Given the description of an element on the screen output the (x, y) to click on. 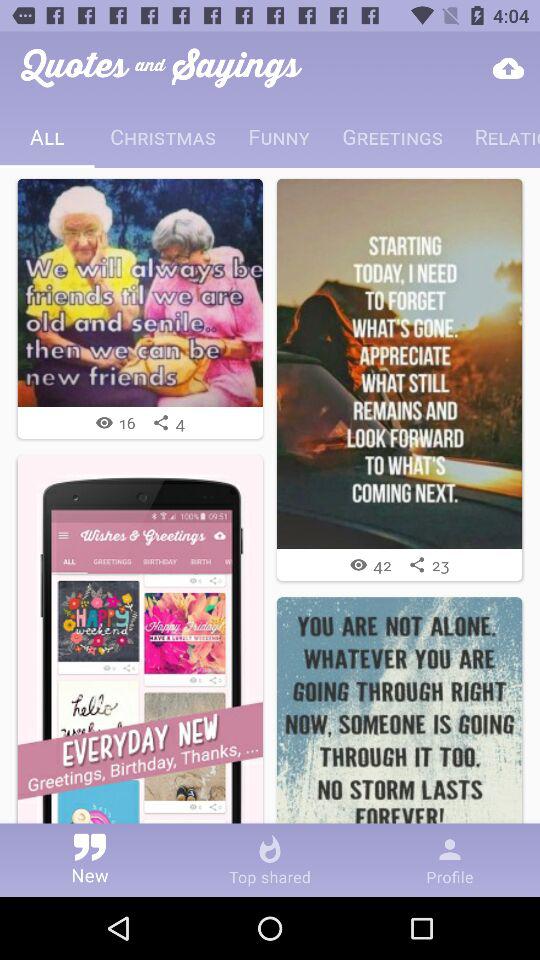
click on picture (399, 363)
